Given the description of an element on the screen output the (x, y) to click on. 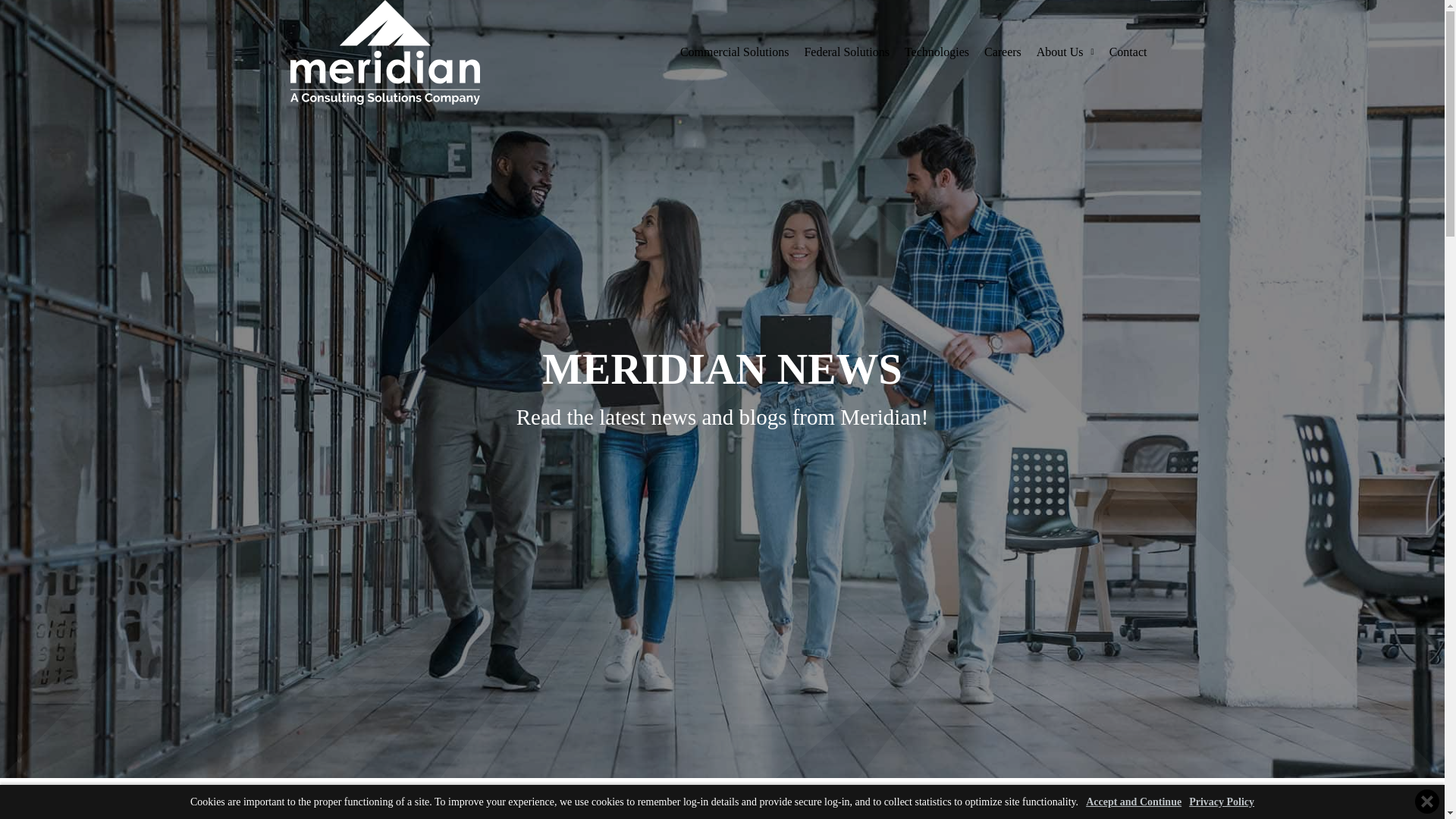
Careers (1002, 3)
Contact (1128, 13)
About Us (1065, 6)
Technologies (936, 2)
Privacy Policy (1221, 790)
Accept and Continue (1133, 790)
